Given the description of an element on the screen output the (x, y) to click on. 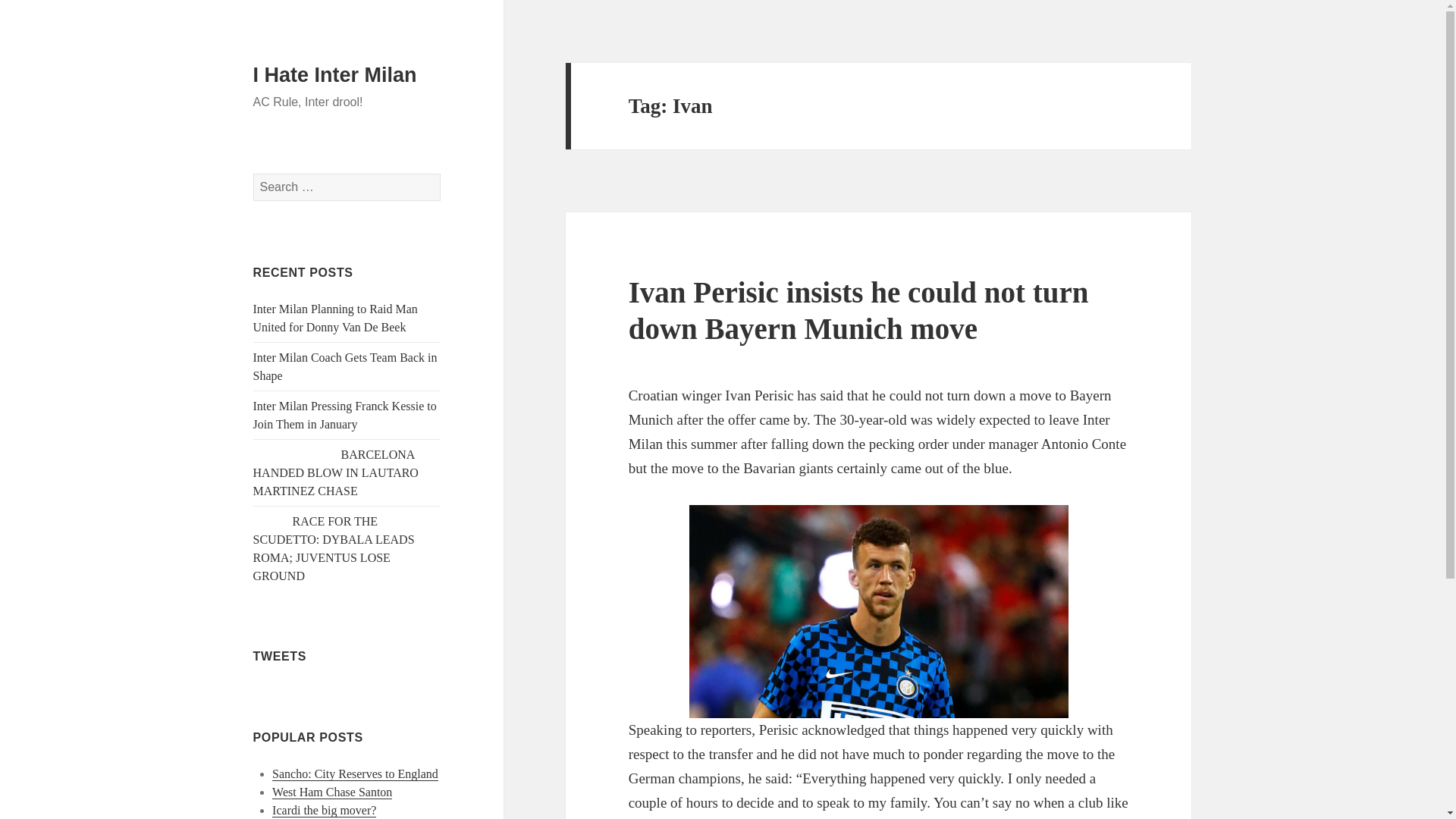
Inter Milan Pressing Franck Kessie to Join Them in January (344, 414)
Inter Milan Coach Gets Team Back in Shape (345, 366)
Icardi the big mover? (323, 810)
Sancho: City Reserves to England (355, 774)
I Hate Inter Milan (334, 74)
West Ham Chase Santon (331, 792)
